Given the description of an element on the screen output the (x, y) to click on. 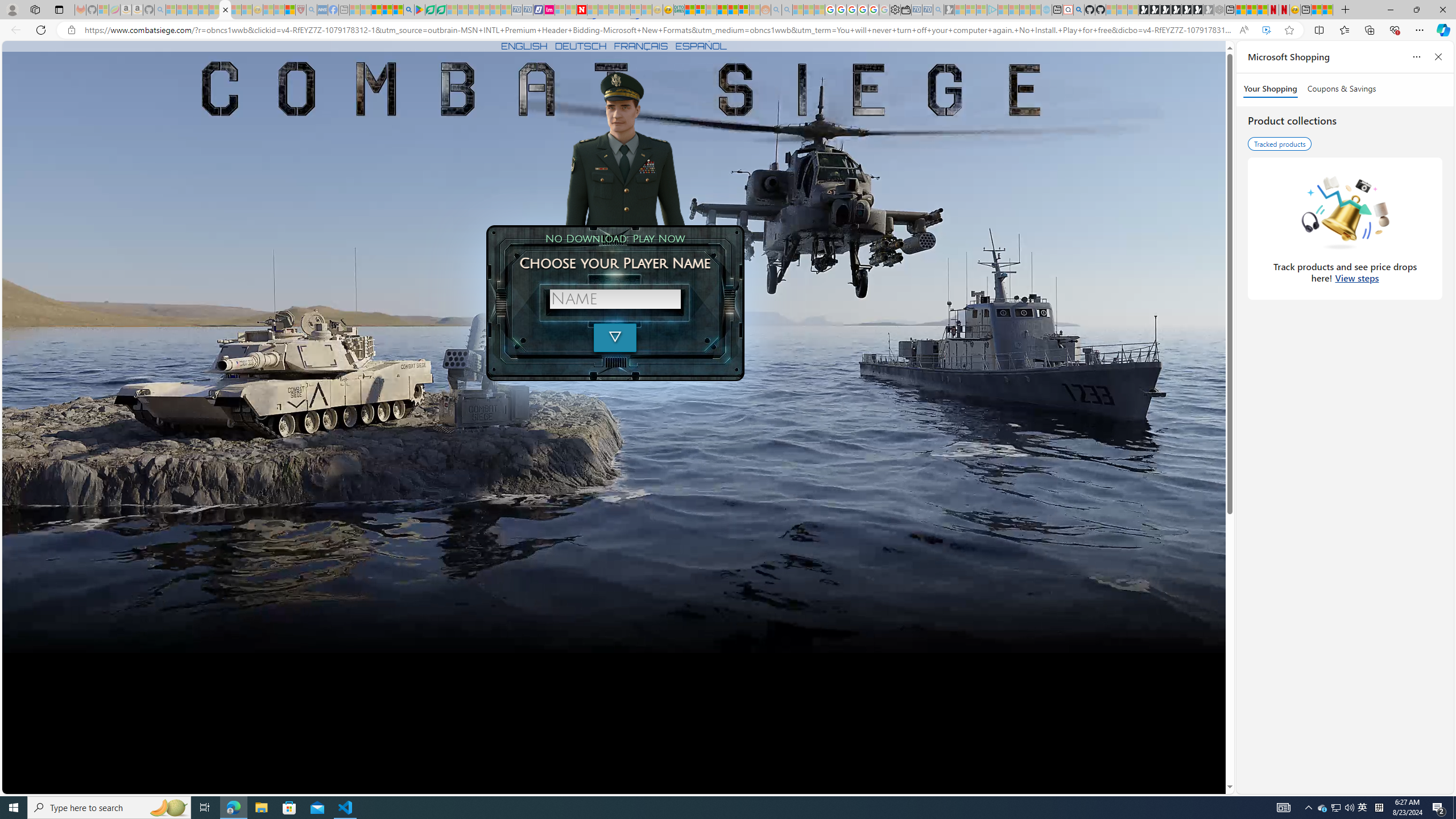
Enhance video (1266, 29)
Name (614, 298)
Cheap Hotels - Save70.com - Sleeping (527, 9)
